Given the description of an element on the screen output the (x, y) to click on. 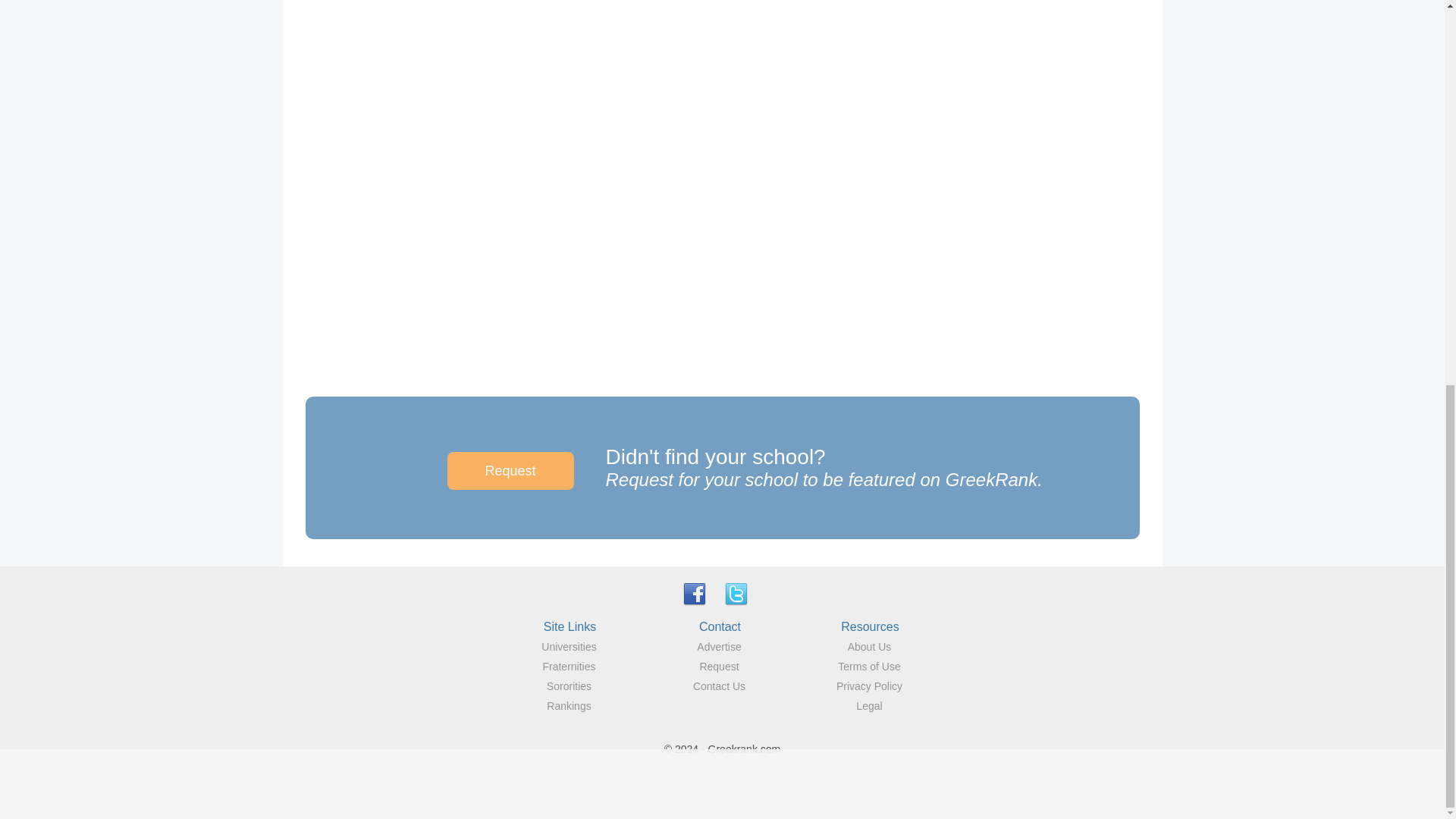
Universities (568, 646)
Contact Us (719, 686)
Advertise (719, 646)
Sororities (569, 686)
Request (718, 666)
About Us (869, 646)
Rankings (569, 705)
Fraternities (568, 666)
Follow GreekRank Facebook (694, 593)
Follow GreekRank Twitter (735, 593)
